Given the description of an element on the screen output the (x, y) to click on. 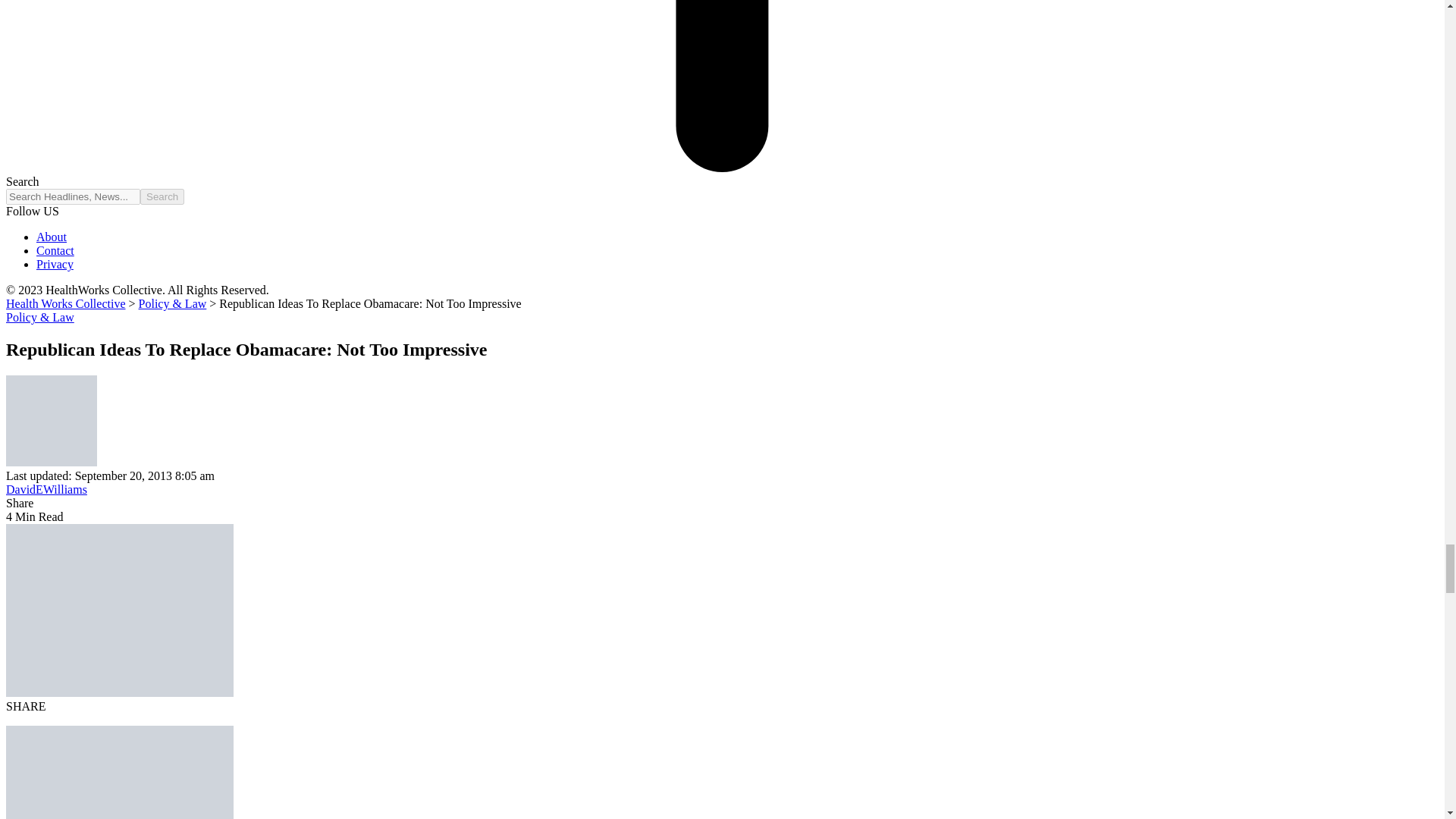
Search (161, 196)
Go to Health Works Collective. (65, 303)
